Given the description of an element on the screen output the (x, y) to click on. 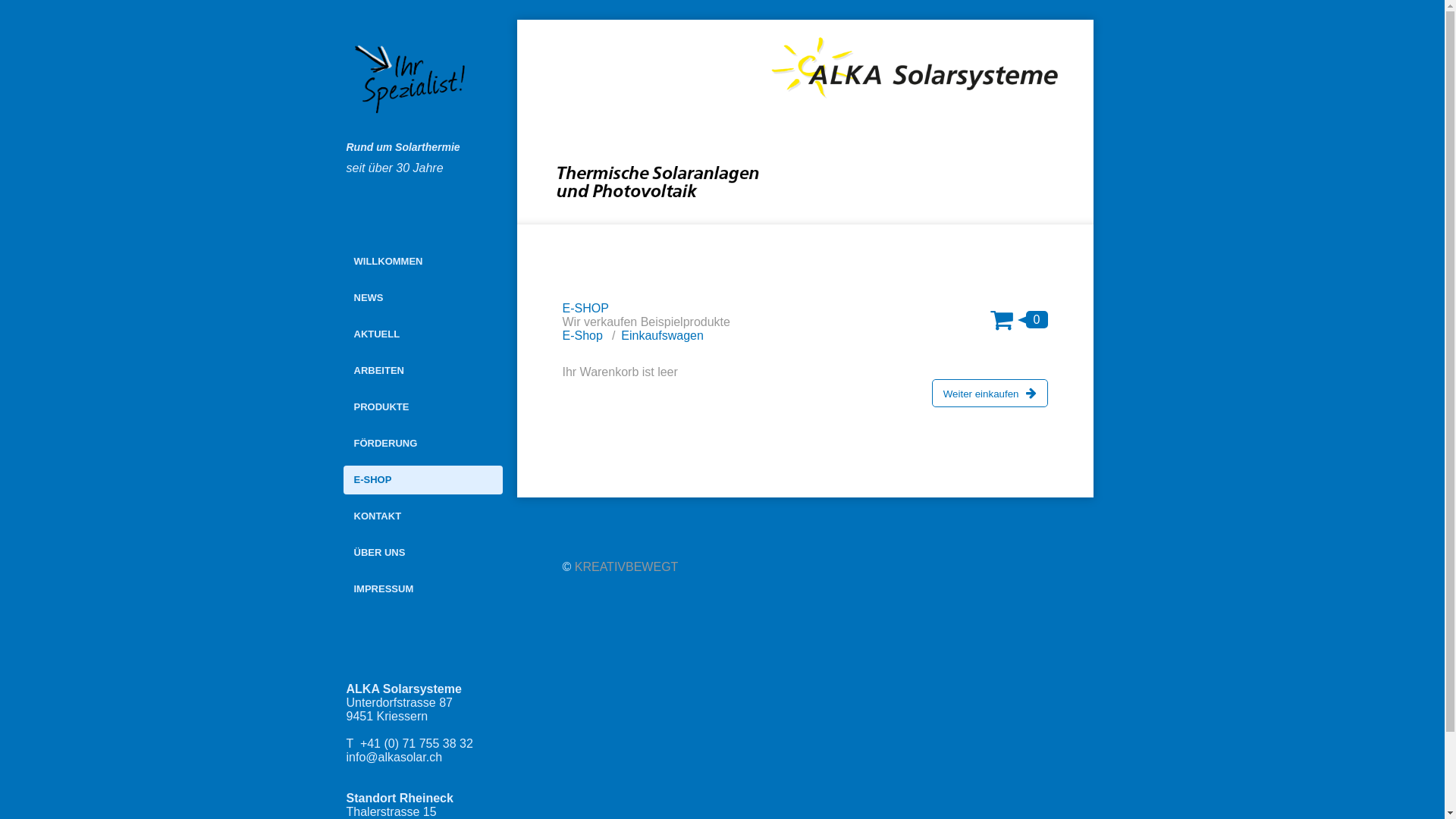
KONTAKT Element type: text (422, 516)
E-SHOP Element type: text (422, 479)
AKTUELL Element type: text (422, 334)
Einkaufswagen Element type: text (662, 335)
PRODUKTE Element type: text (422, 406)
E-Shop Element type: text (582, 335)
ARBEITEN Element type: text (422, 370)
Weiter einkaufen Element type: text (989, 393)
IMPRESSUM Element type: text (422, 588)
NEWS Element type: text (422, 297)
KREATIVBEWEGT Element type: text (626, 566)
0 Element type: text (1019, 318)
WILLKOMMEN Element type: text (422, 261)
